Given the description of an element on the screen output the (x, y) to click on. 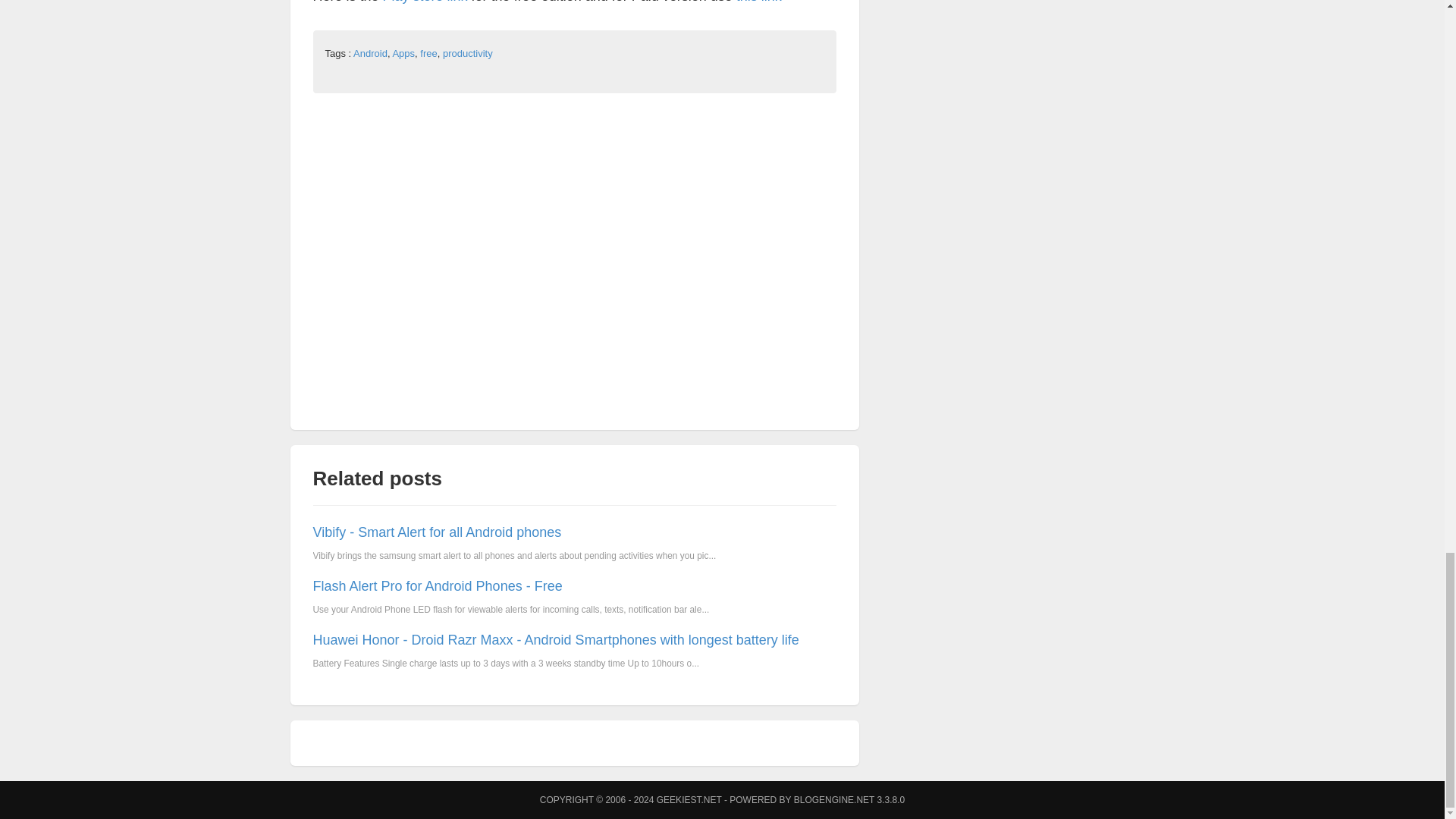
Apps (402, 52)
Vibify - Smart Alert for all Android phones (436, 531)
this link (758, 2)
Flash Alert Pro for Android Phones - Free (437, 585)
Play store link (424, 2)
GEEKIEST.NET (689, 799)
free (428, 52)
Android (370, 52)
productivity (467, 52)
